Given the description of an element on the screen output the (x, y) to click on. 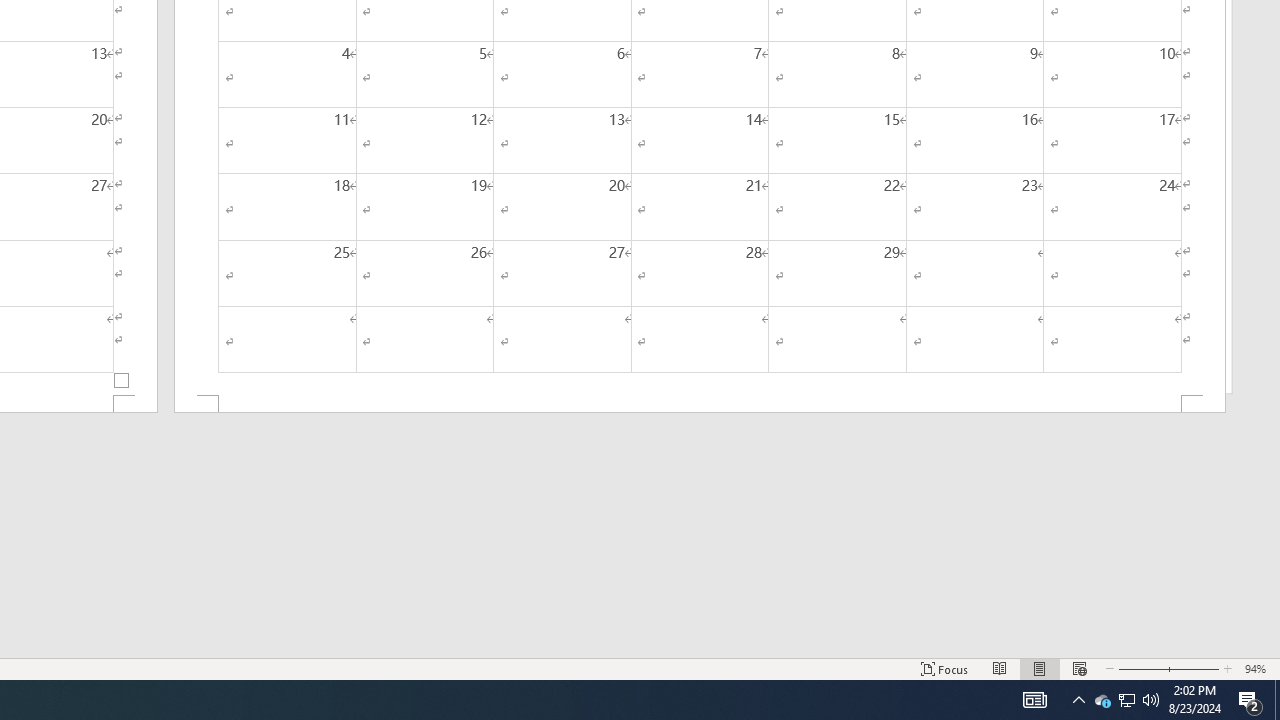
Zoom In (1193, 668)
Q2790: 100% (1151, 699)
Print Layout (1039, 668)
Show desktop (1277, 699)
